Given the description of an element on the screen output the (x, y) to click on. 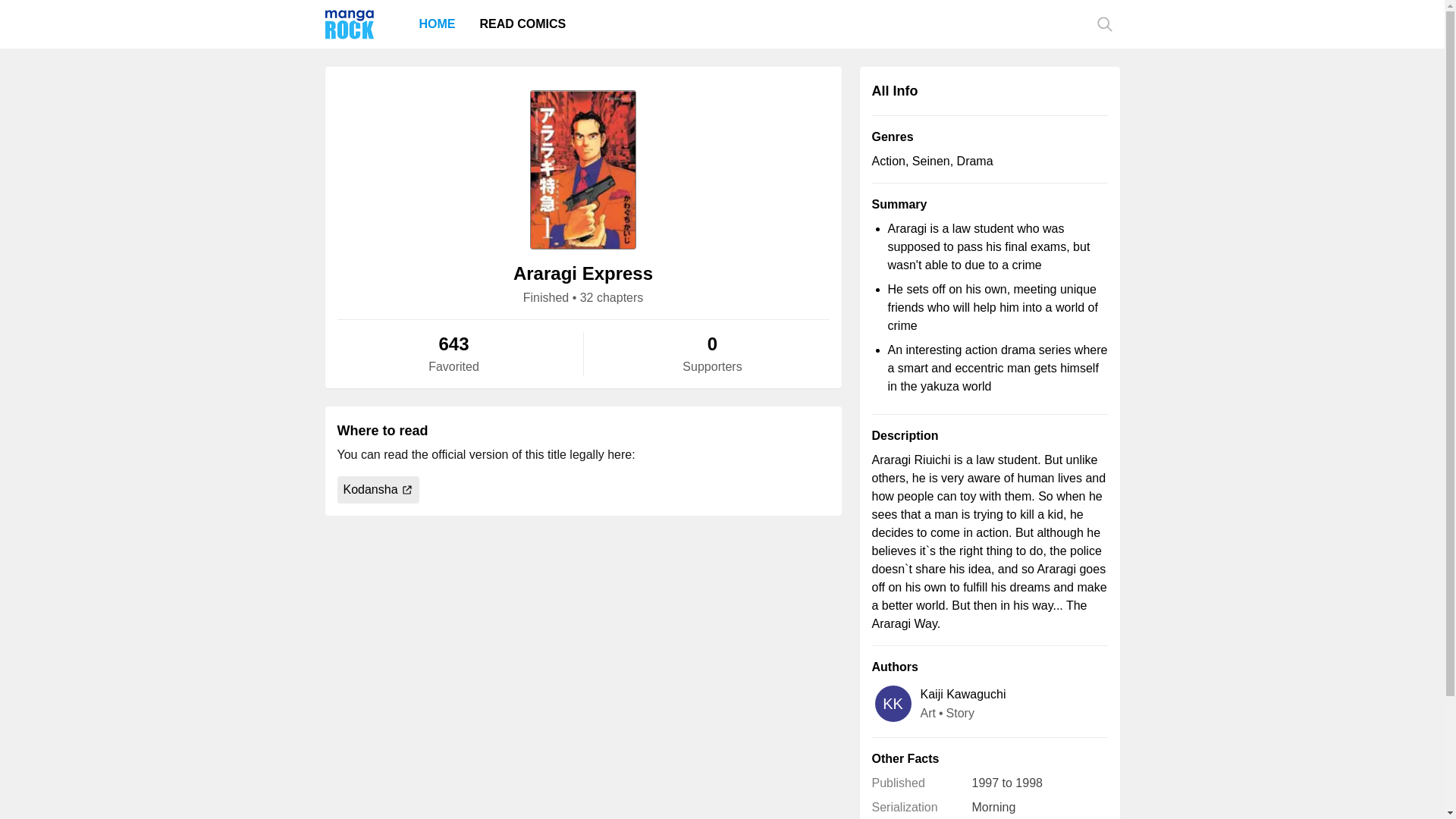
Kodansha (377, 489)
Kaiji Kawaguchi (963, 694)
READ COMICS (522, 24)
HOME (436, 24)
